Given the description of an element on the screen output the (x, y) to click on. 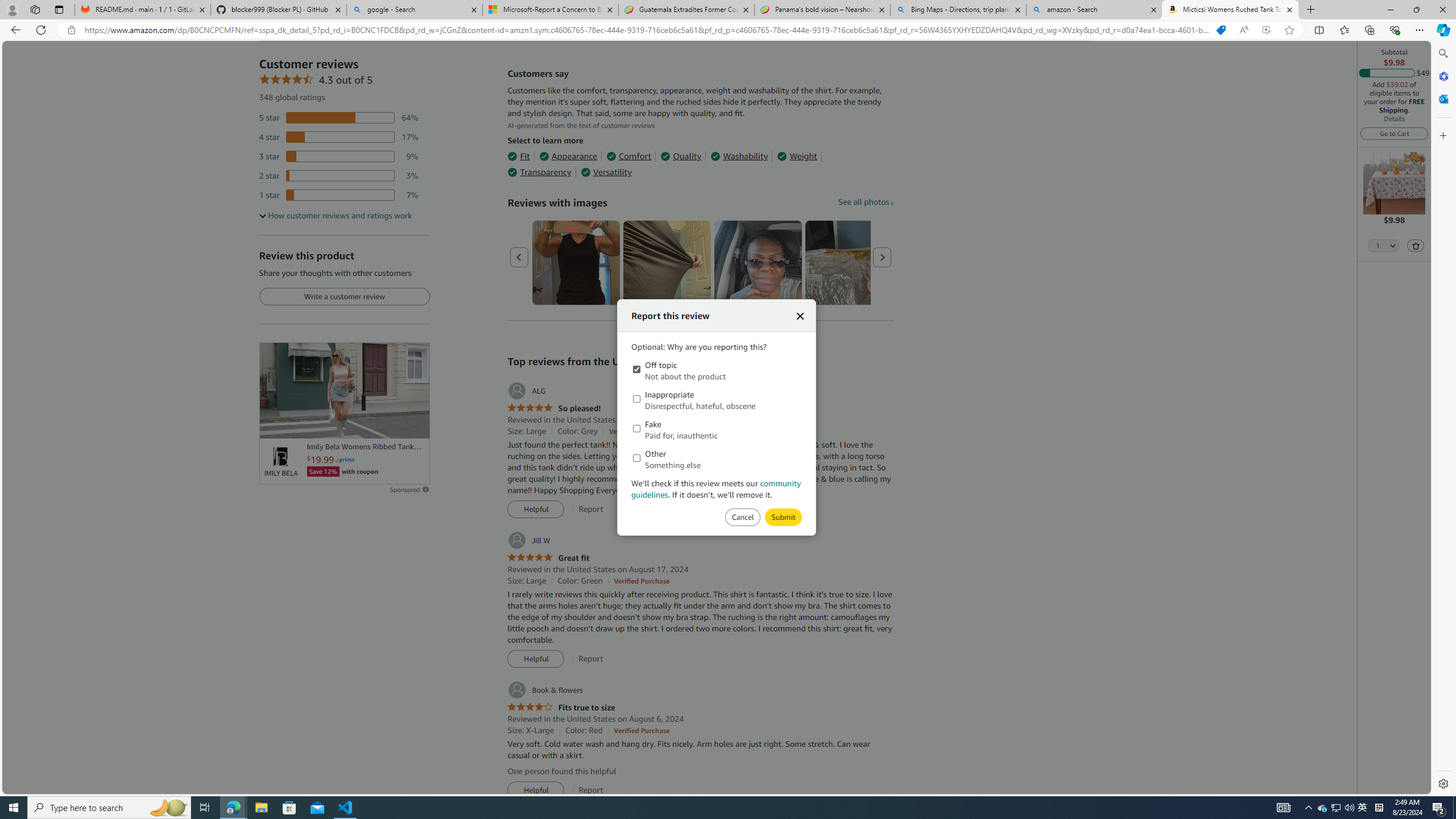
Comfort (628, 156)
9 percent of reviews have 3 stars (339, 156)
ALG (526, 390)
How customer reviews and ratings work (335, 215)
community guidelines (715, 488)
